Given the description of an element on the screen output the (x, y) to click on. 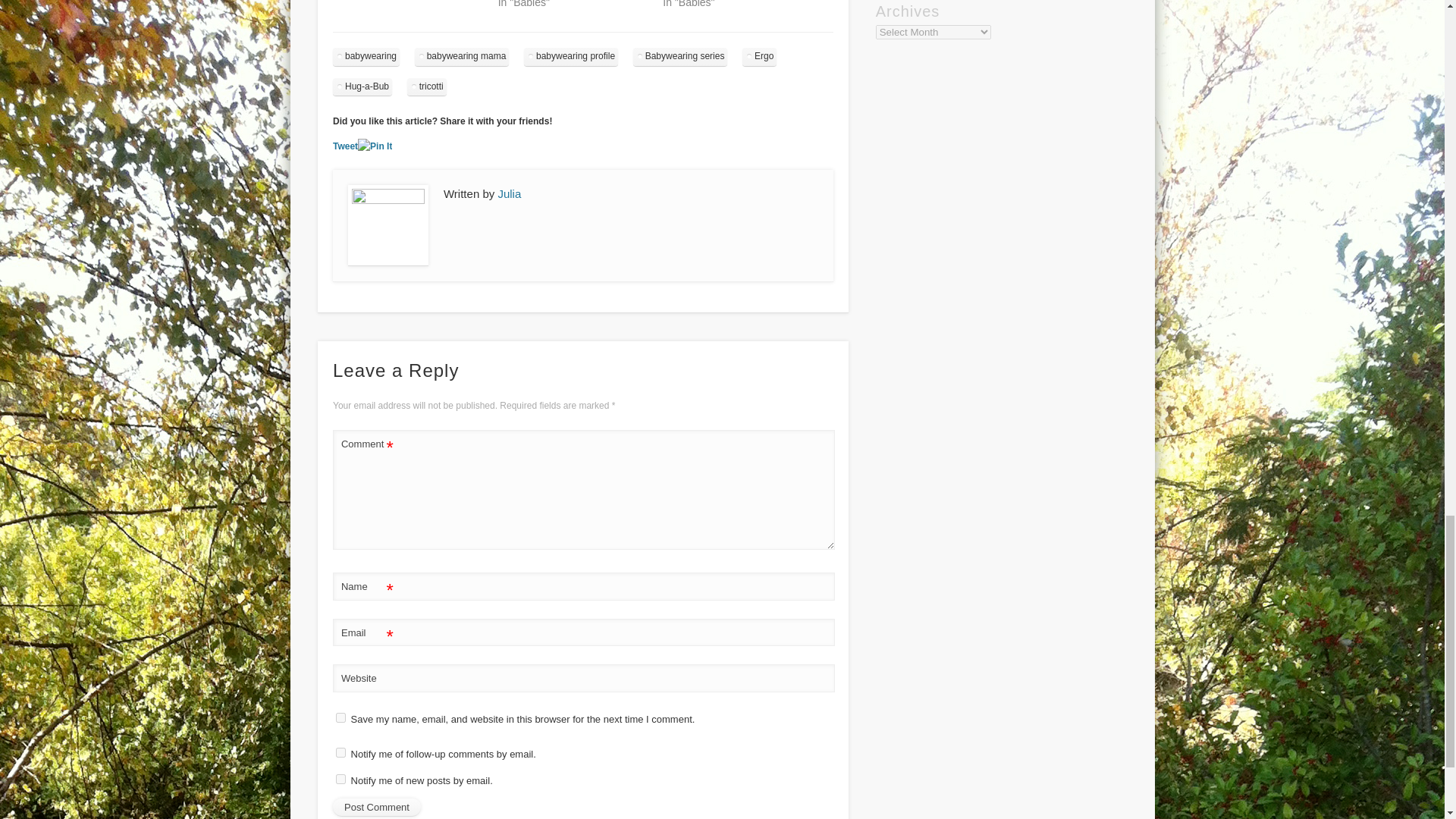
yes (341, 717)
Posts by Julia (509, 193)
Post Comment (376, 807)
Pin It (374, 146)
subscribe (341, 778)
subscribe (341, 752)
